Given the description of an element on the screen output the (x, y) to click on. 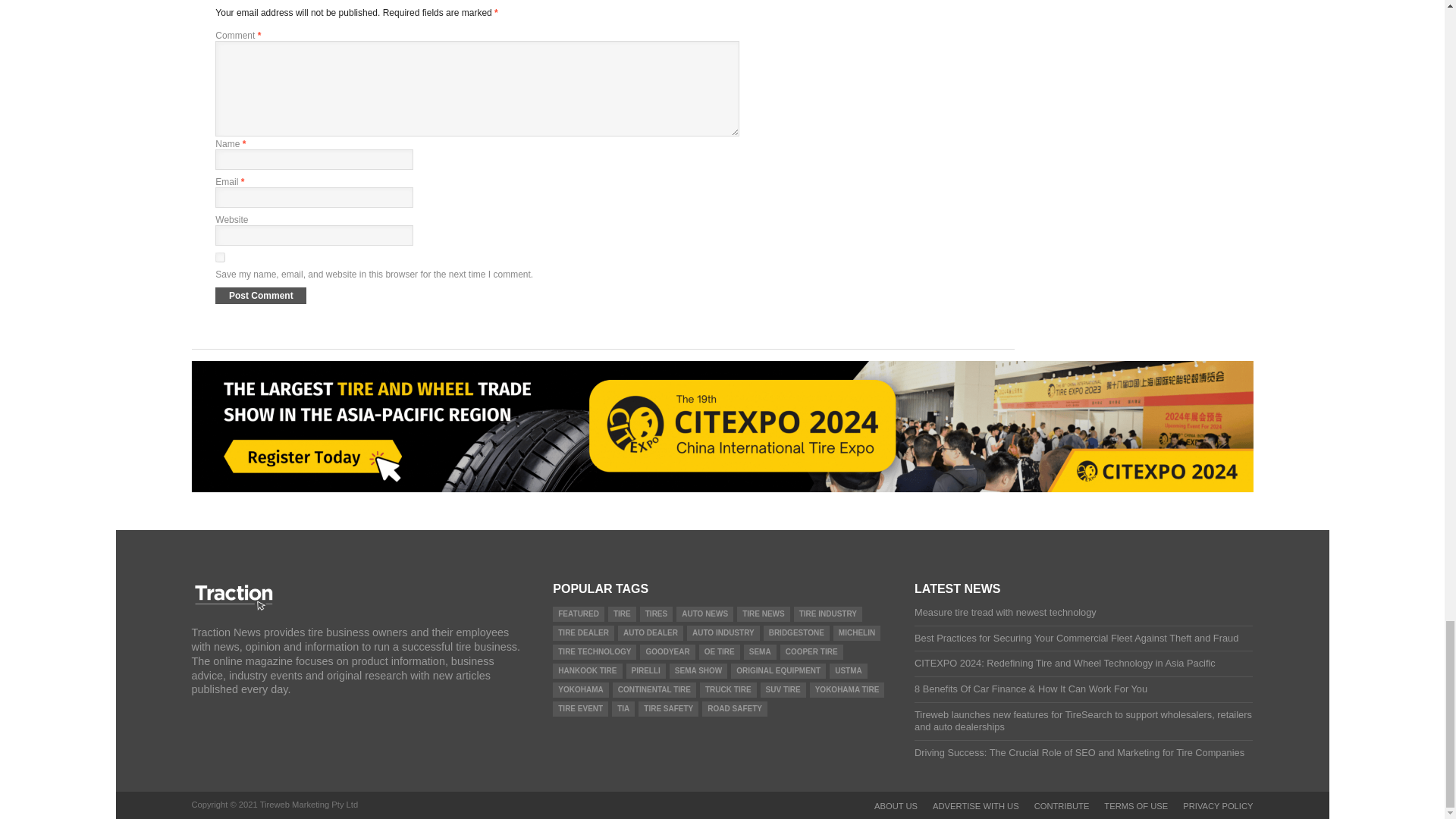
Post Comment (260, 295)
yes (220, 257)
